Given the description of an element on the screen output the (x, y) to click on. 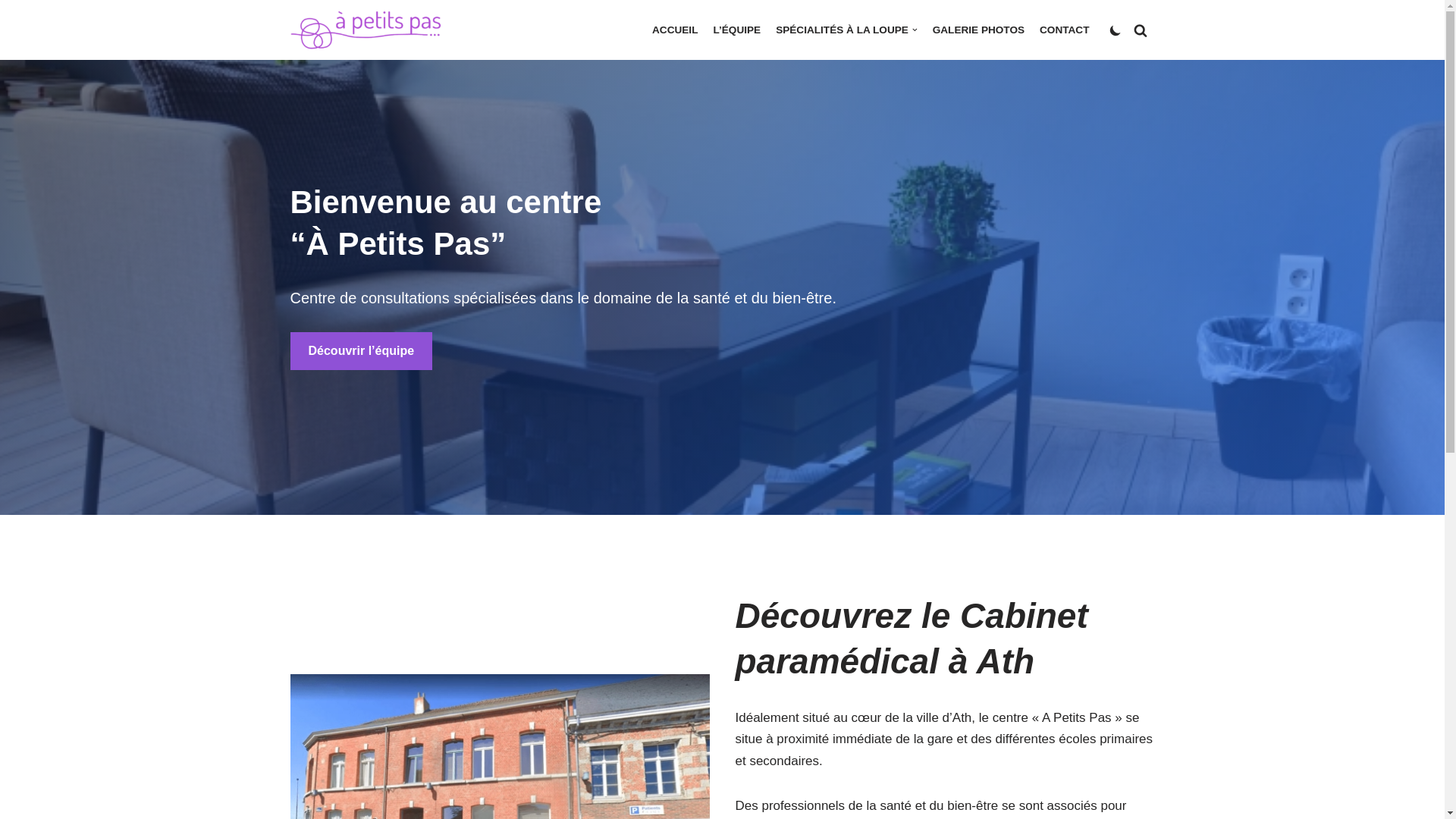
CONTACT Element type: text (1063, 29)
ACCUEIL Element type: text (674, 29)
GALERIE PHOTOS Element type: text (978, 29)
Aller au contenu Element type: text (11, 31)
